Given the description of an element on the screen output the (x, y) to click on. 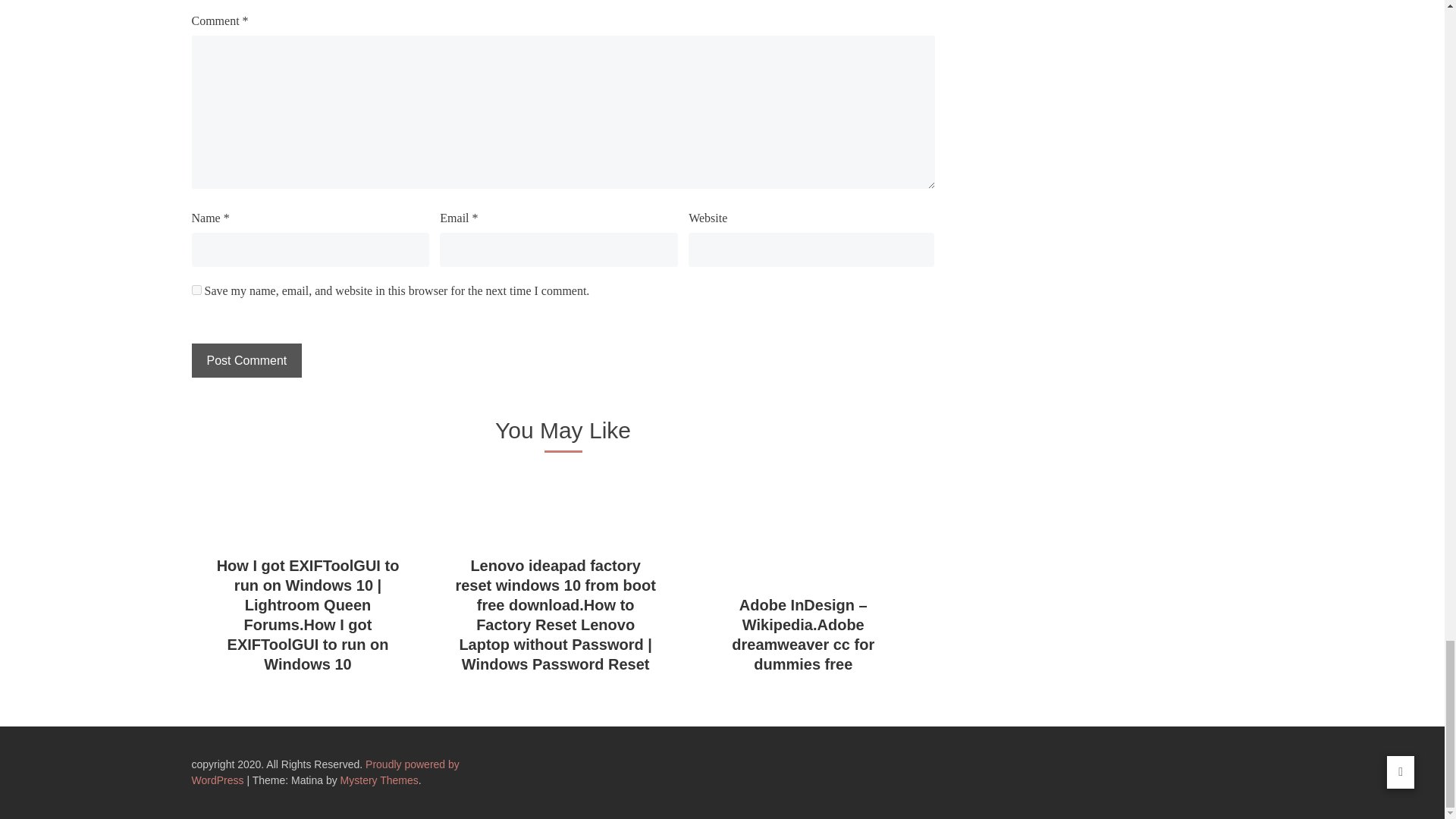
Post Comment (245, 360)
Post Comment (245, 360)
yes (195, 289)
